Given the description of an element on the screen output the (x, y) to click on. 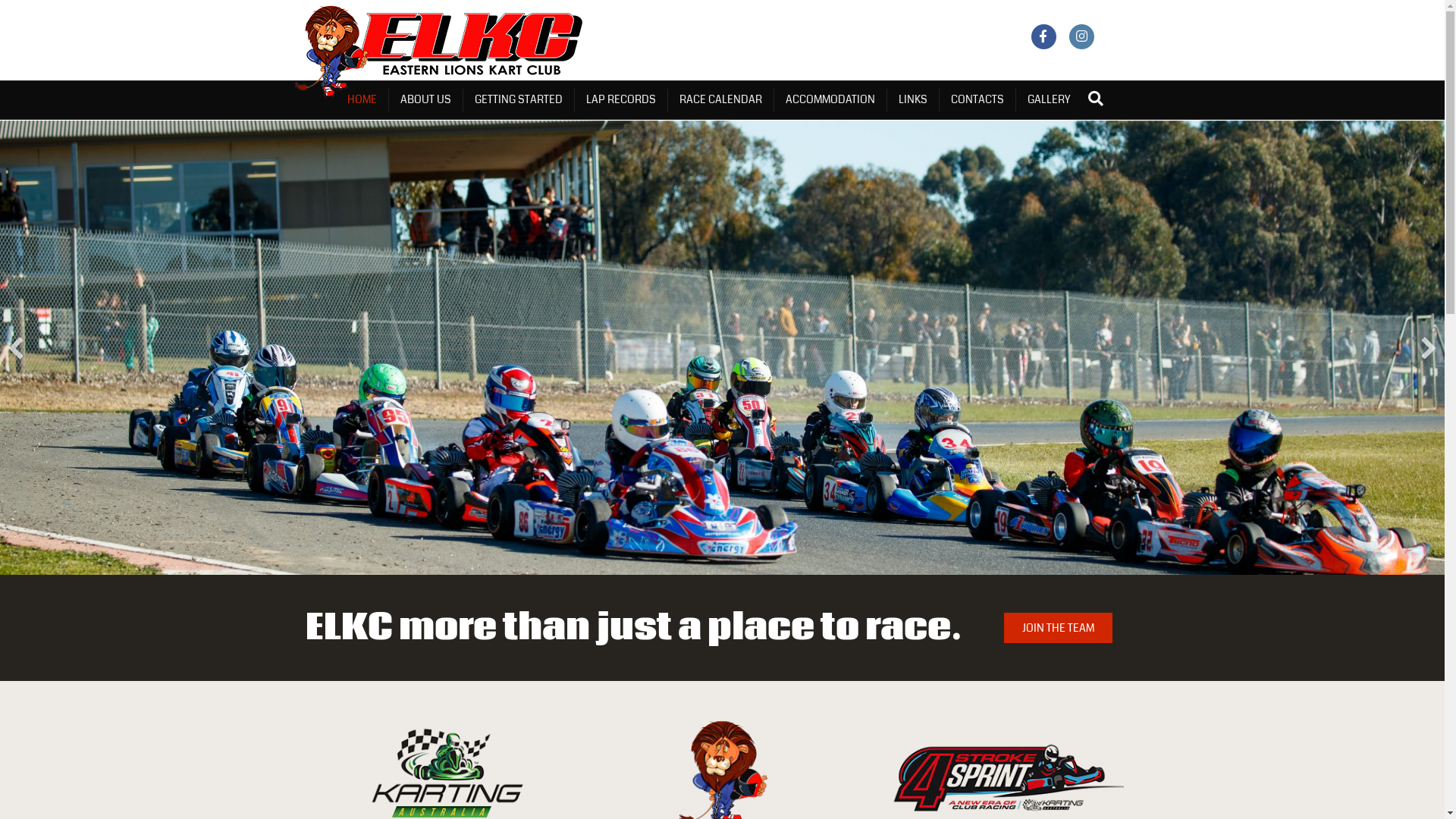
Facebook Element type: text (1042, 36)
LINKS Element type: text (913, 99)
ABOUT US Element type: text (425, 99)
LAP RECORDS Element type: text (621, 99)
Instagram Element type: text (1081, 36)
RACE CALENDAR Element type: text (720, 99)
CONTACTS Element type: text (976, 99)
GETTING STARTED Element type: text (518, 99)
HOME Element type: text (361, 99)
GALLERY Element type: text (1048, 99)
JOIN THE TEAM Element type: text (1058, 627)
ACCOMMODATION Element type: text (829, 99)
